Given the description of an element on the screen output the (x, y) to click on. 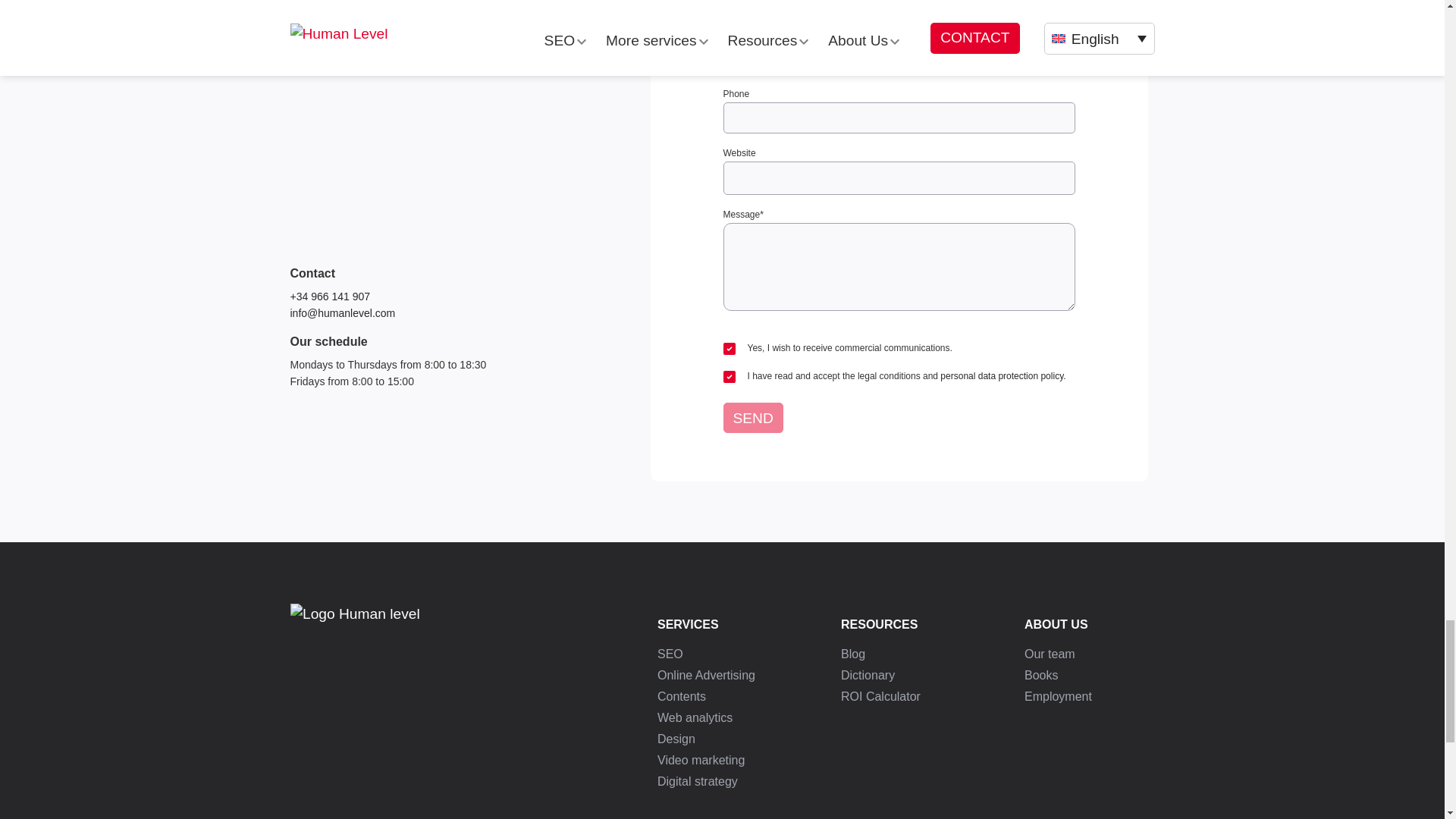
SEND (753, 417)
acepta-newsletter (729, 348)
accept-this-1 (729, 377)
